Given the description of an element on the screen output the (x, y) to click on. 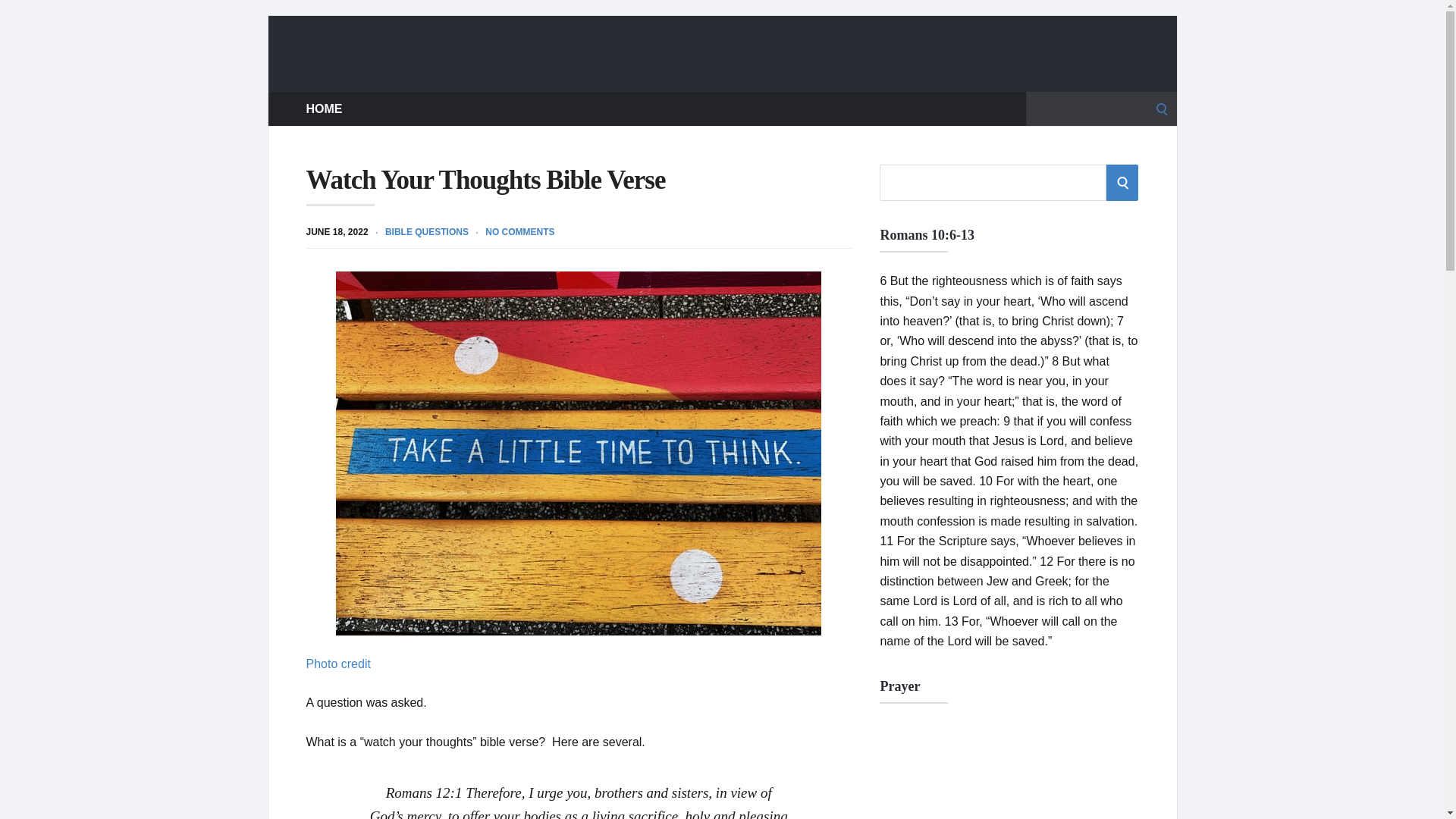
Photo credit (338, 663)
NO COMMENTS (519, 231)
YouTube video player (1008, 770)
BIBLE QUESTIONS (426, 231)
Search (16, 17)
HOME (323, 108)
BibleQuestionsBlog (721, 53)
